Given the description of an element on the screen output the (x, y) to click on. 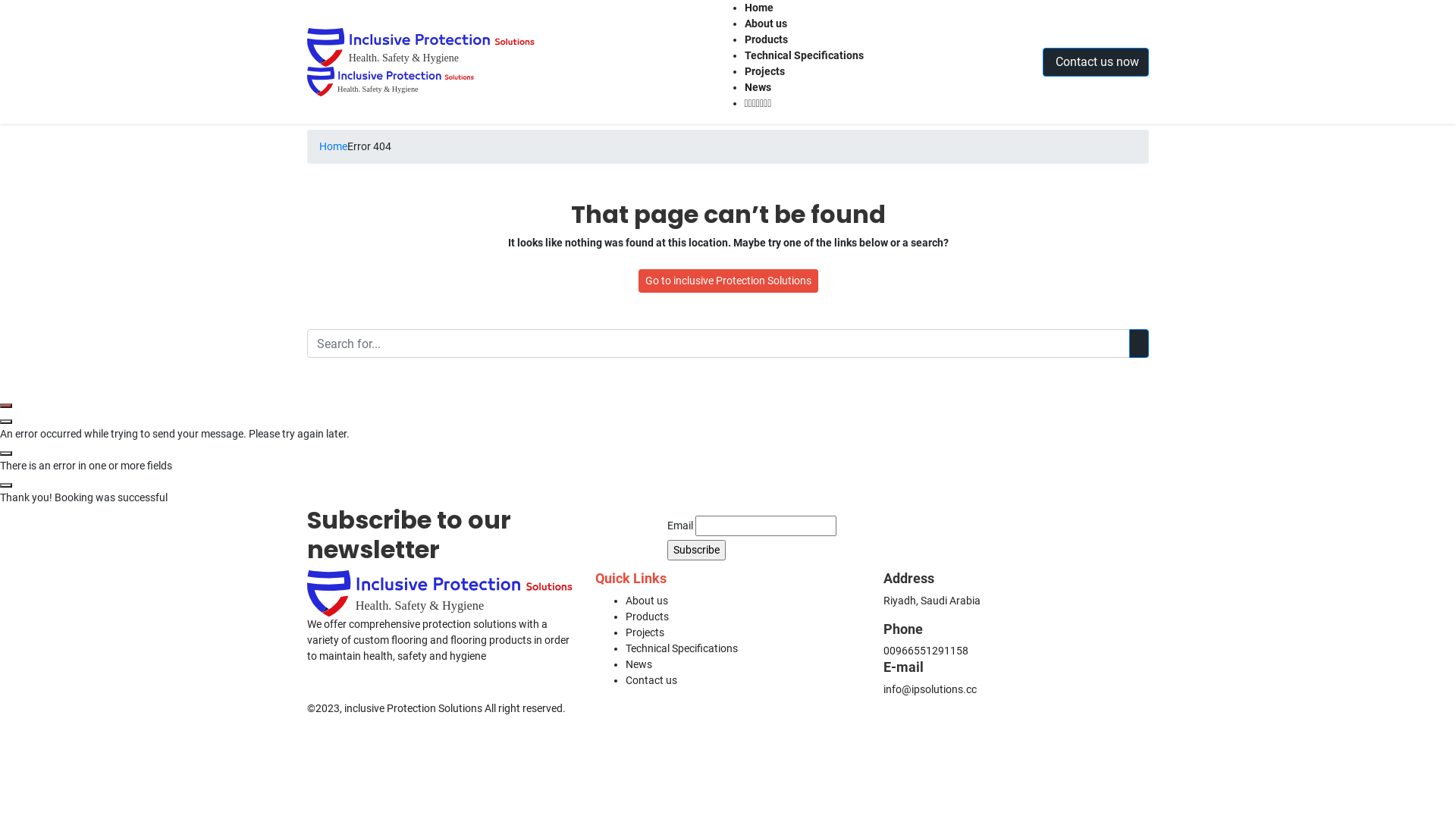
Home Element type: text (333, 146)
News Element type: text (638, 664)
Technical Specifications Element type: text (681, 648)
Subscribe Element type: text (696, 549)
Projects Element type: text (764, 71)
About us Element type: text (646, 600)
Contact us Element type: text (651, 680)
Contact us now Element type: text (1095, 61)
Projects Element type: text (644, 632)
inclusive Protection Solutions Element type: hover (420, 61)
Products Element type: text (646, 616)
Products Element type: text (765, 39)
info@ipsolutions.cc Element type: text (929, 689)
About us Element type: text (765, 23)
Go to inclusive Protection Solutions Element type: text (728, 280)
00966551291158 Element type: text (925, 650)
Home Element type: text (758, 7)
Search Element type: text (1138, 343)
Technical Specifications Element type: text (803, 55)
News Element type: text (757, 87)
